Given the description of an element on the screen output the (x, y) to click on. 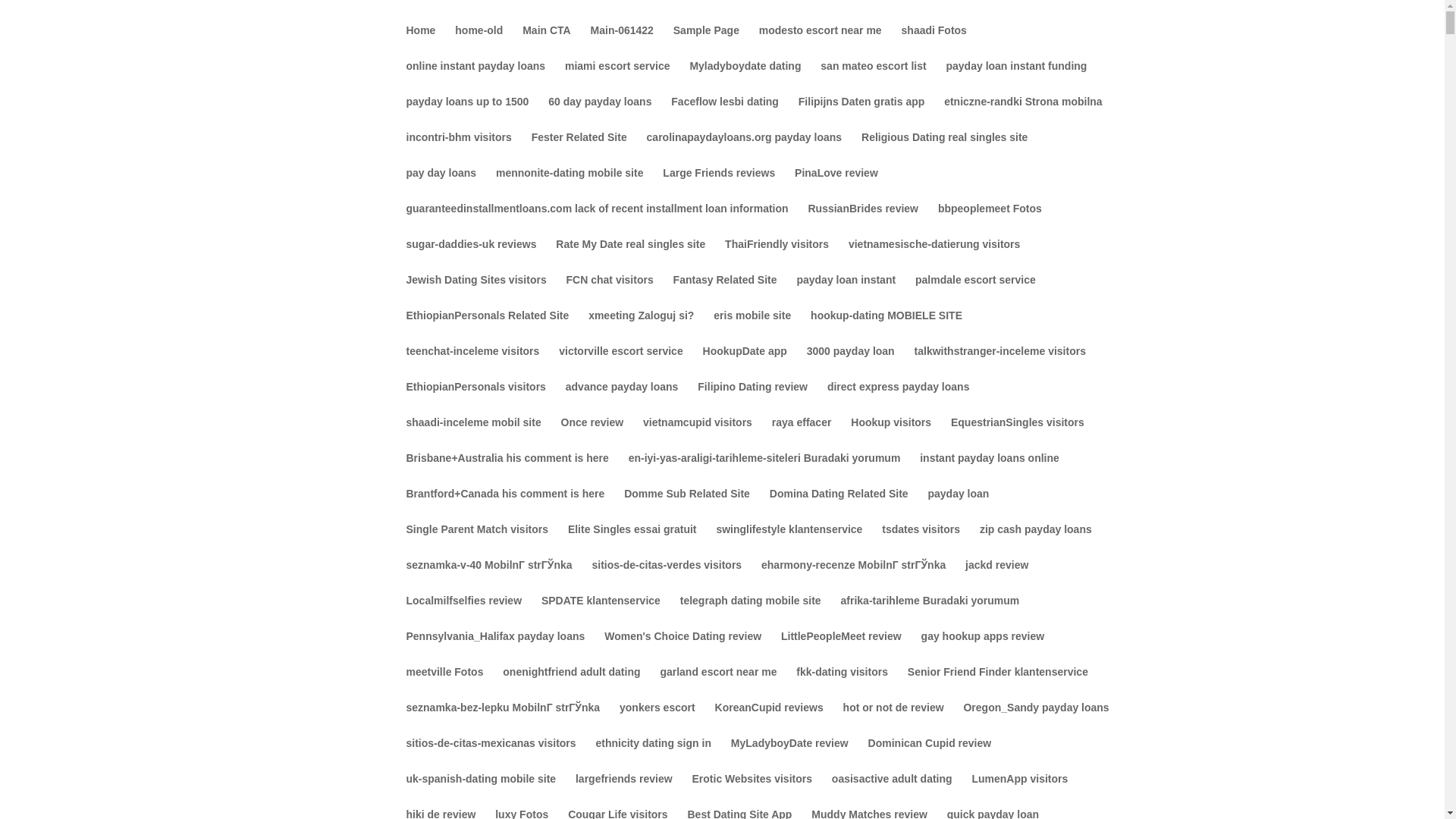
Religious Dating real singles site (944, 149)
xmeeting Zaloguj si? (641, 327)
ThaiFriendly visitors (776, 256)
Filipijns Daten gratis app (860, 113)
RussianBrides review (863, 221)
shaadi Fotos (933, 42)
incontri-bhm visitors (459, 149)
FCN chat visitors (609, 292)
mennonite-dating mobile site (569, 185)
Jewish Dating Sites visitors (476, 292)
